Given the description of an element on the screen output the (x, y) to click on. 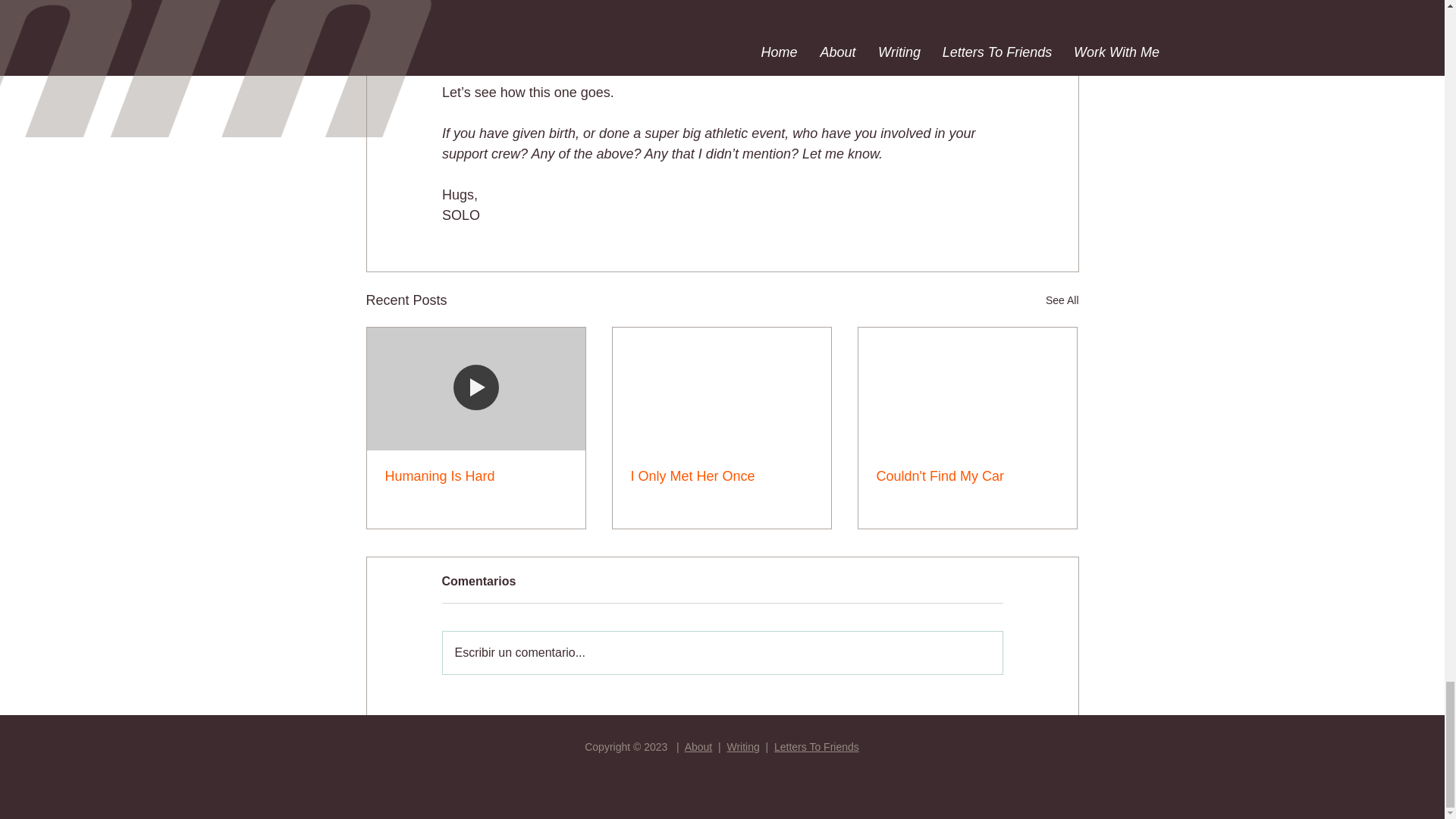
About (698, 746)
Couldn't Find My Car (967, 476)
Escribir un comentario... (722, 652)
I Only Met Her Once (721, 476)
See All (1061, 300)
Letters To Friends (816, 746)
Writing (742, 746)
Humaning Is Hard (476, 476)
